Given the description of an element on the screen output the (x, y) to click on. 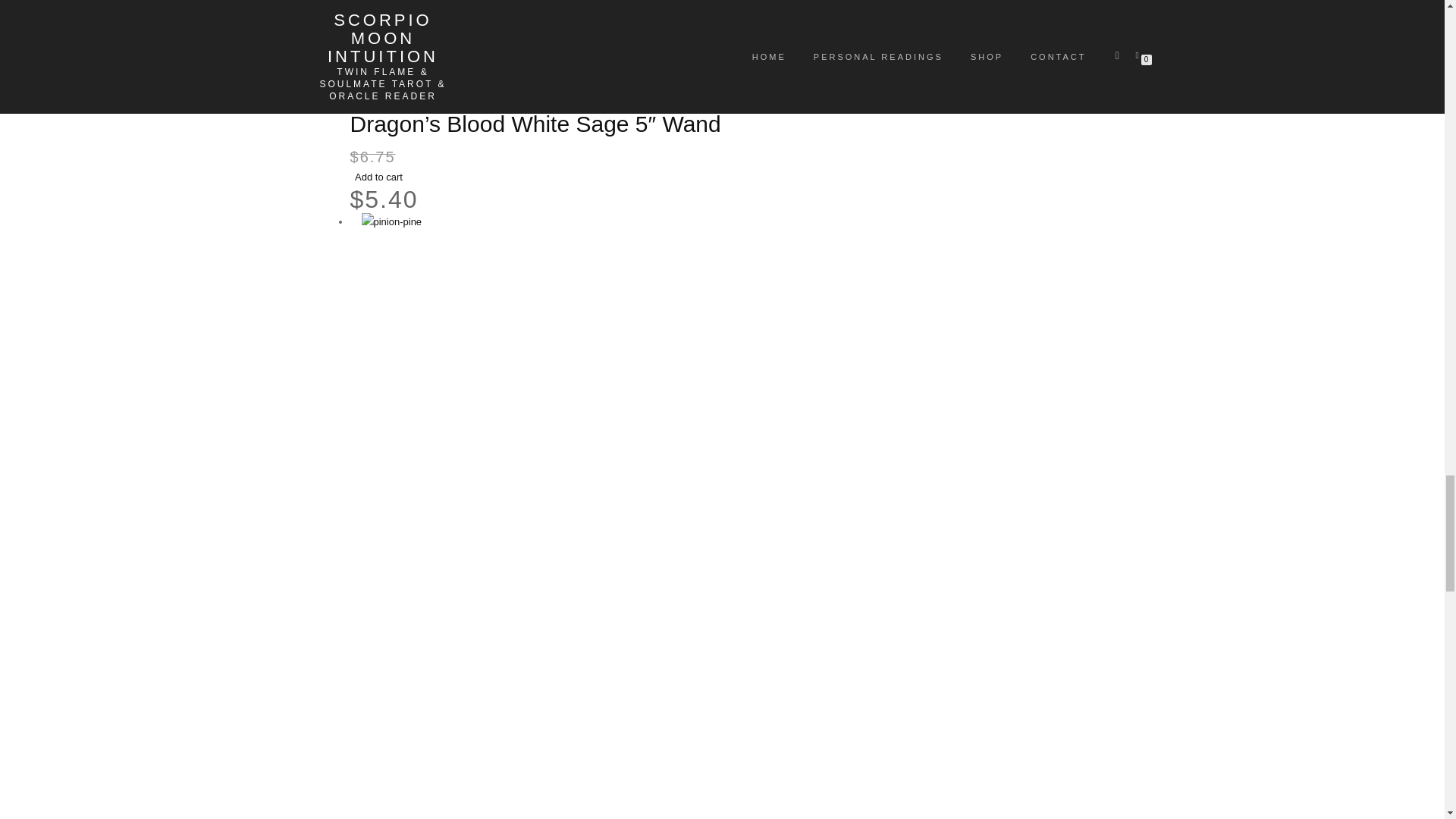
Add to cart (379, 176)
dragons-blood (752, 46)
